Given the description of an element on the screen output the (x, y) to click on. 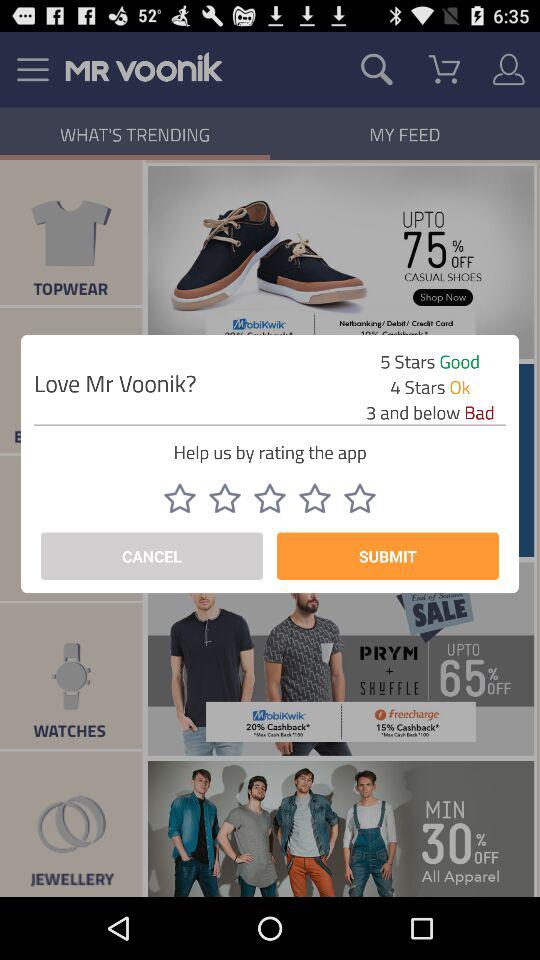
select the second star (225, 498)
